Given the description of an element on the screen output the (x, y) to click on. 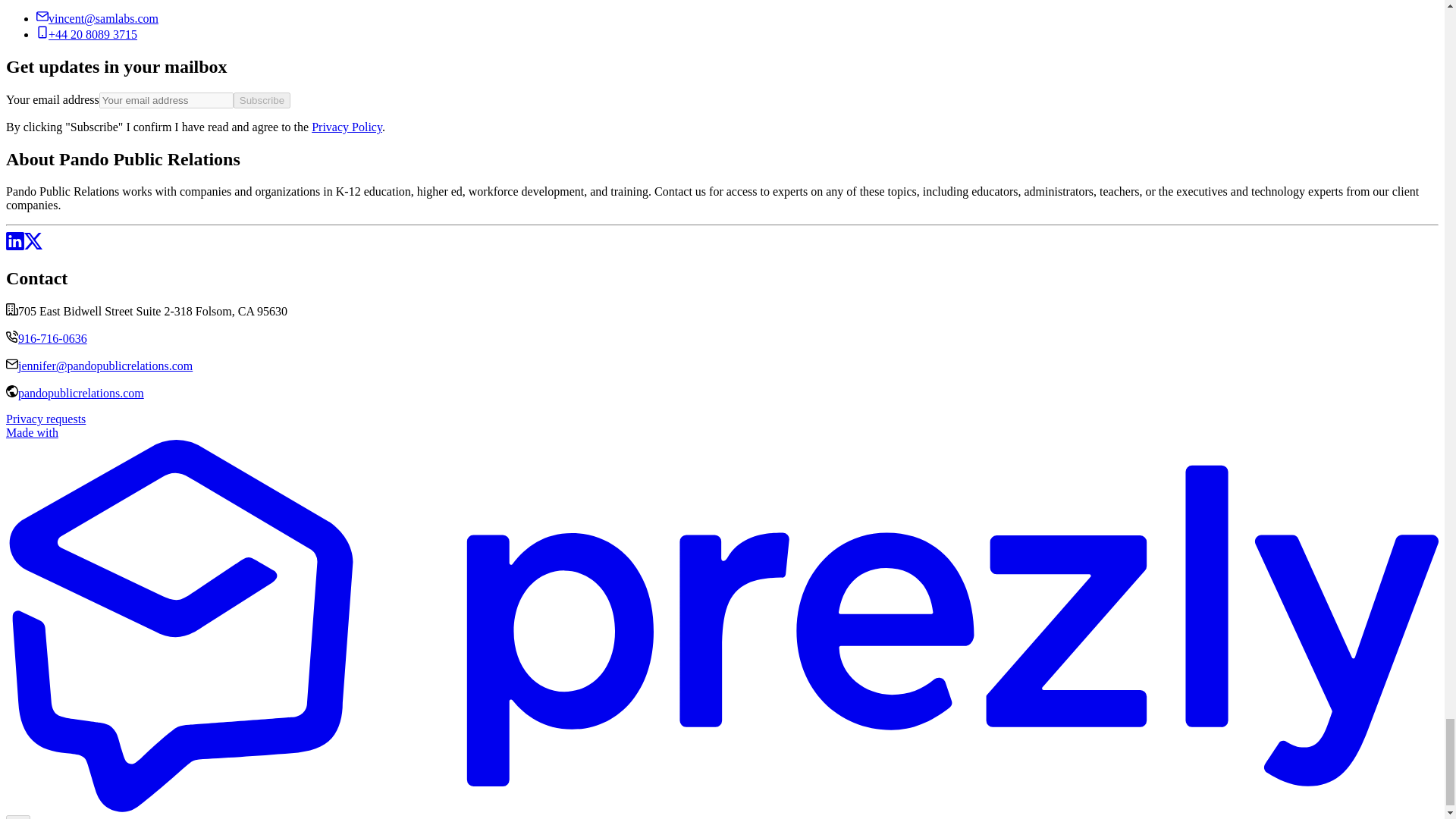
LinkedIn (14, 245)
Subscribe (260, 100)
Privacy requests (45, 418)
Privacy Policy (346, 126)
pandopublicrelations.com (80, 392)
X (33, 245)
916-716-0636 (52, 338)
